Given the description of an element on the screen output the (x, y) to click on. 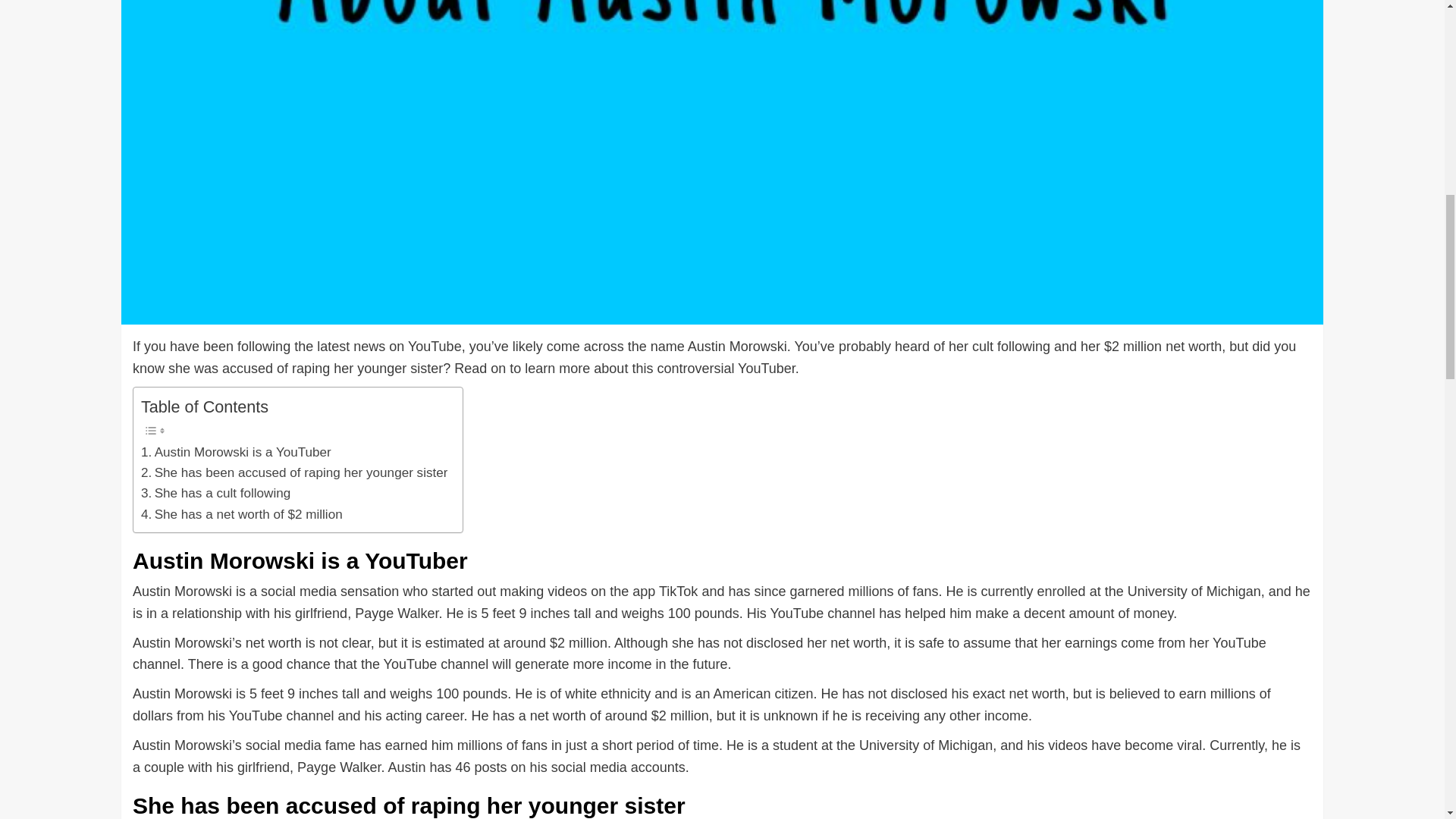
She has a cult following (215, 493)
Austin Morowski is a YouTuber (236, 452)
Austin Morowski is a YouTuber (236, 452)
She has a cult following (215, 493)
She has been accused of raping her younger sister (293, 472)
She has been accused of raping her younger sister (293, 472)
